Given the description of an element on the screen output the (x, y) to click on. 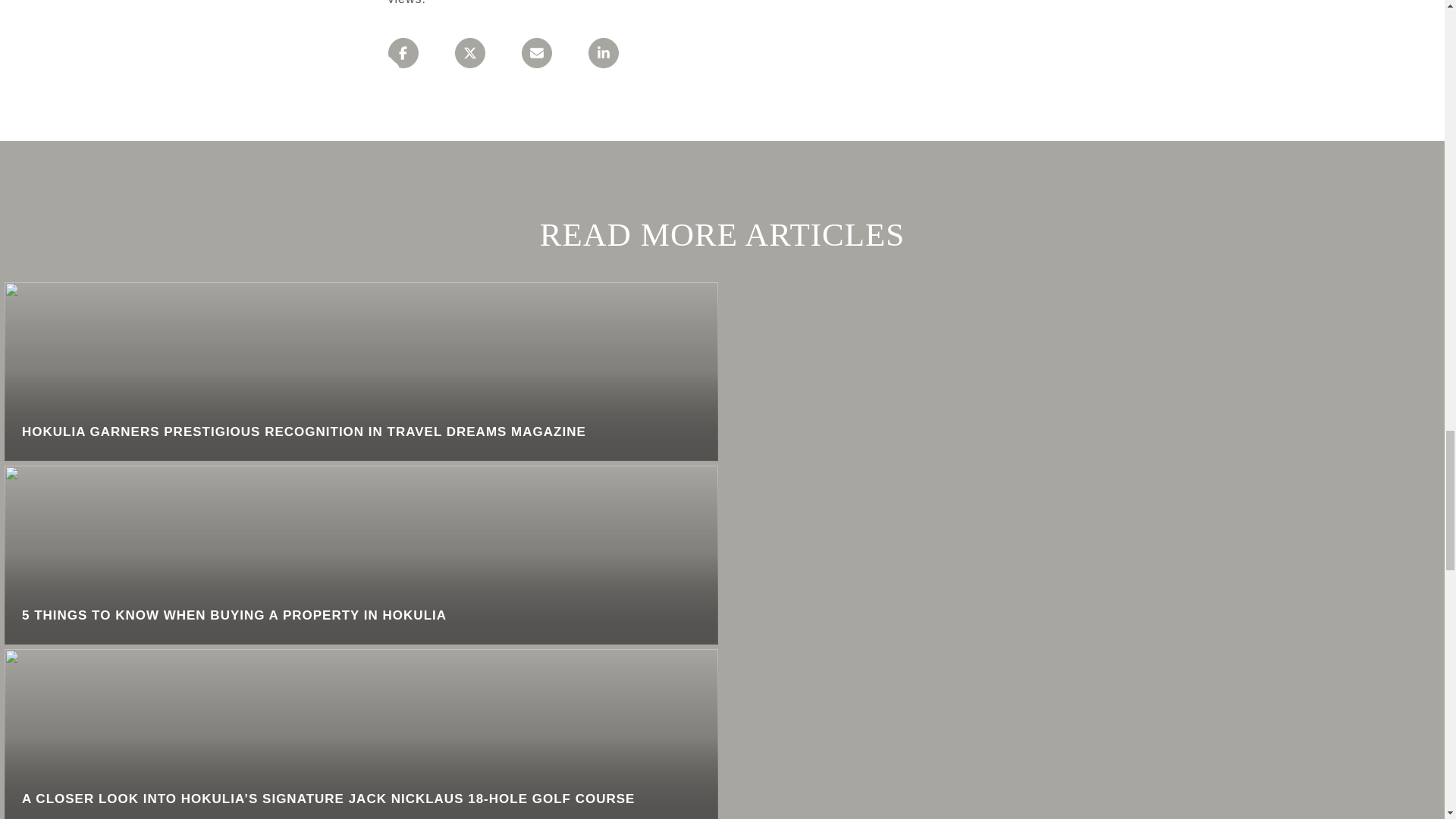
5 THINGS TO KNOW WHEN BUYING A PROPERTY IN HOKULIA (360, 555)
